Given the description of an element on the screen output the (x, y) to click on. 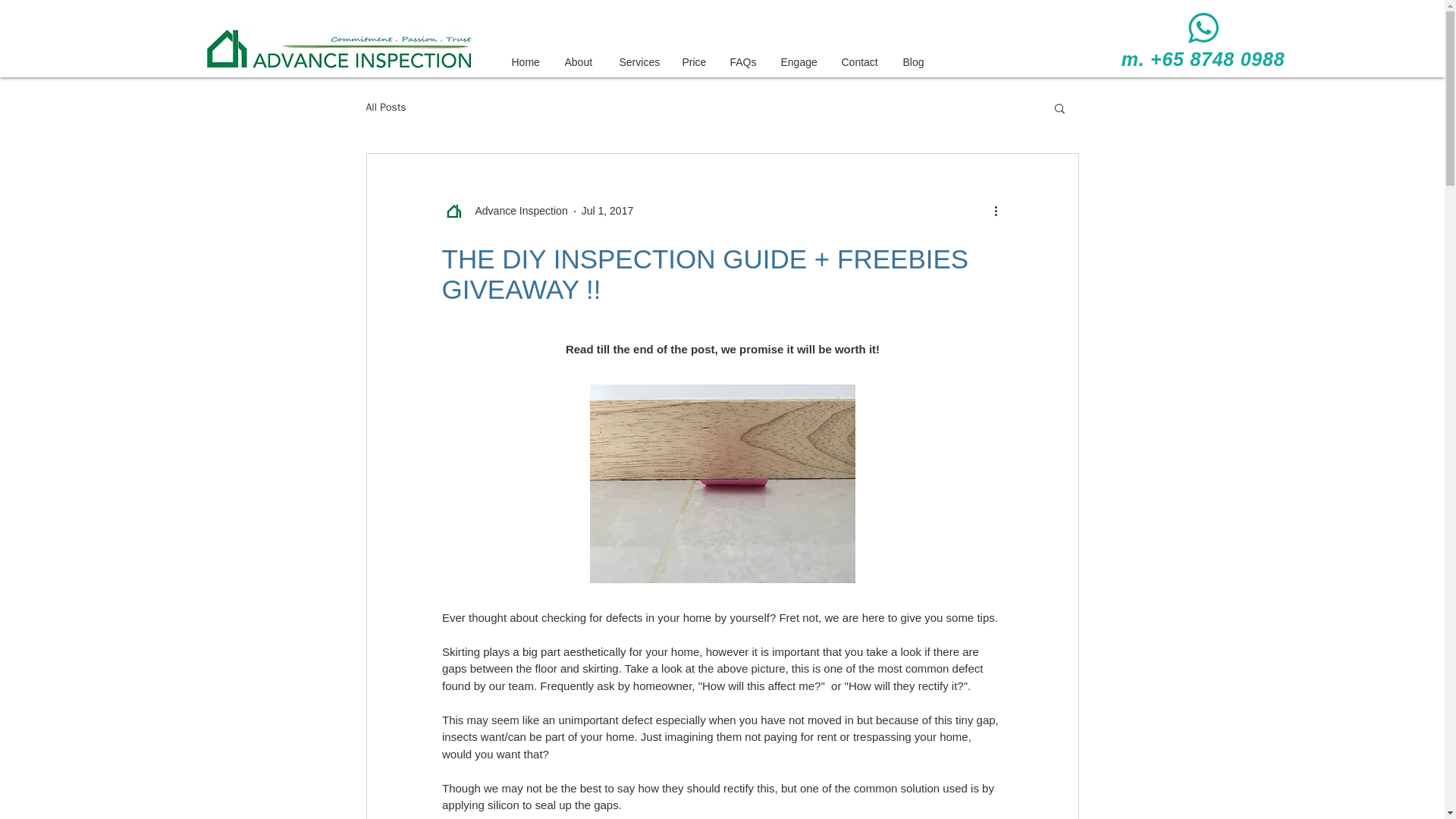
All Posts (385, 106)
Engage (803, 62)
Price (698, 62)
Contact (864, 62)
Advance Inspection (516, 211)
Home (529, 62)
FAQs (747, 62)
Blog (917, 62)
Advance Inspection (504, 210)
Jul 1, 2017 (606, 210)
About (583, 62)
